Given the description of an element on the screen output the (x, y) to click on. 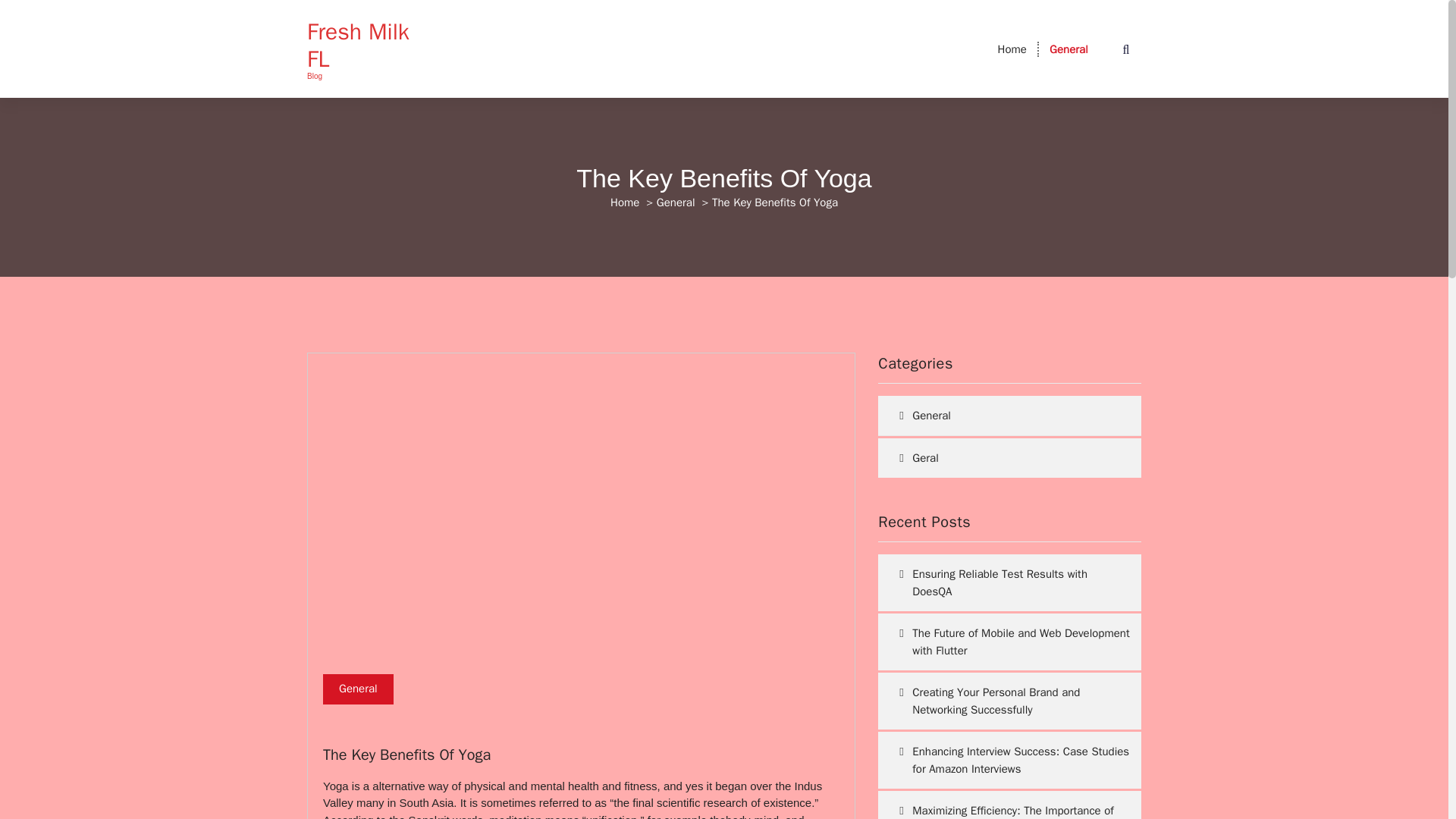
Home (1012, 49)
General (358, 689)
General (1068, 49)
General (1003, 415)
Home (624, 202)
Home (1012, 49)
Creating Your Personal Brand and Networking Successfully (1009, 700)
General (675, 202)
